Given the description of an element on the screen output the (x, y) to click on. 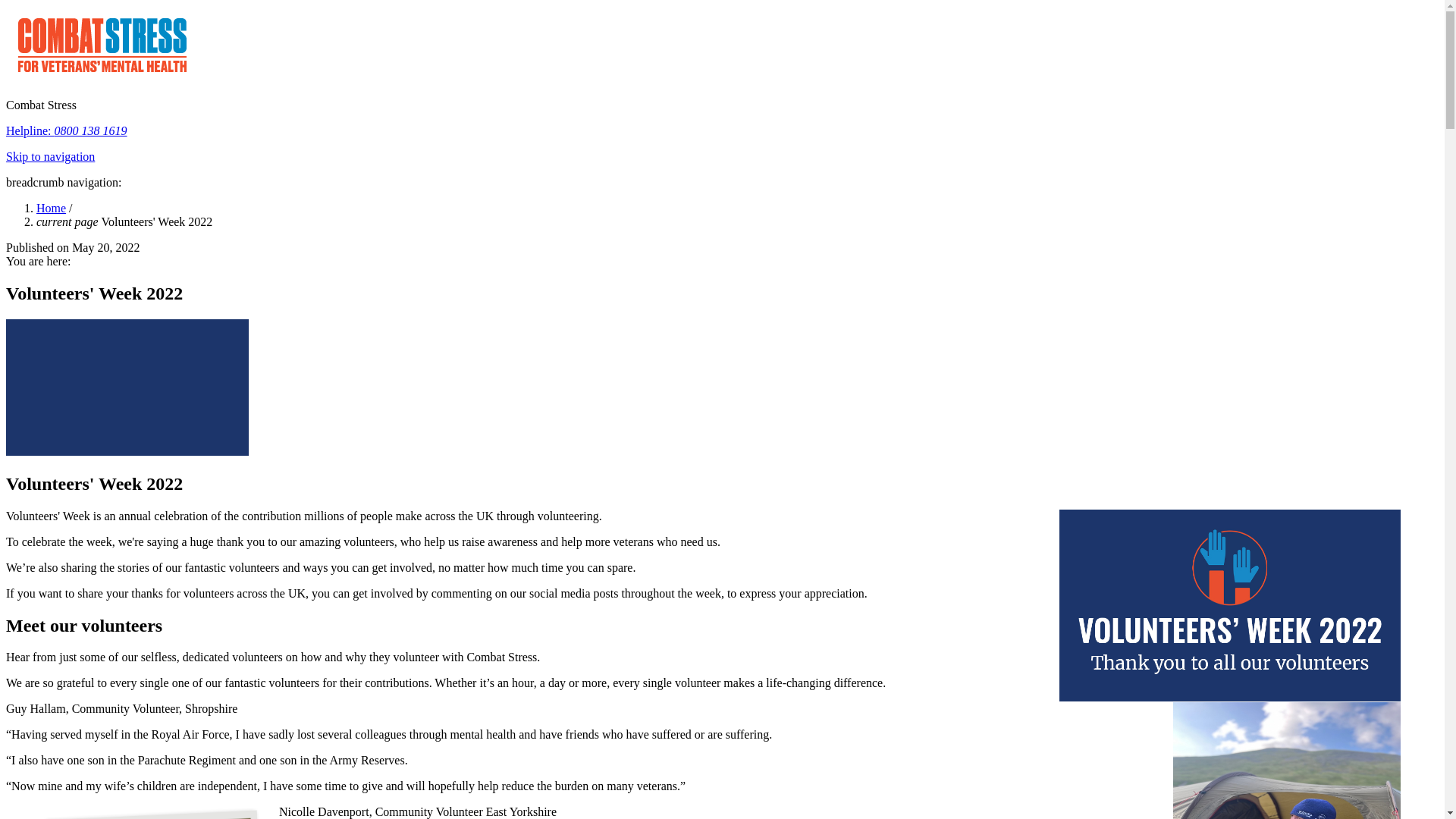
Skip to navigation (49, 155)
Helpline: 0800 138 1619 (66, 130)
Home (50, 207)
